Given the description of an element on the screen output the (x, y) to click on. 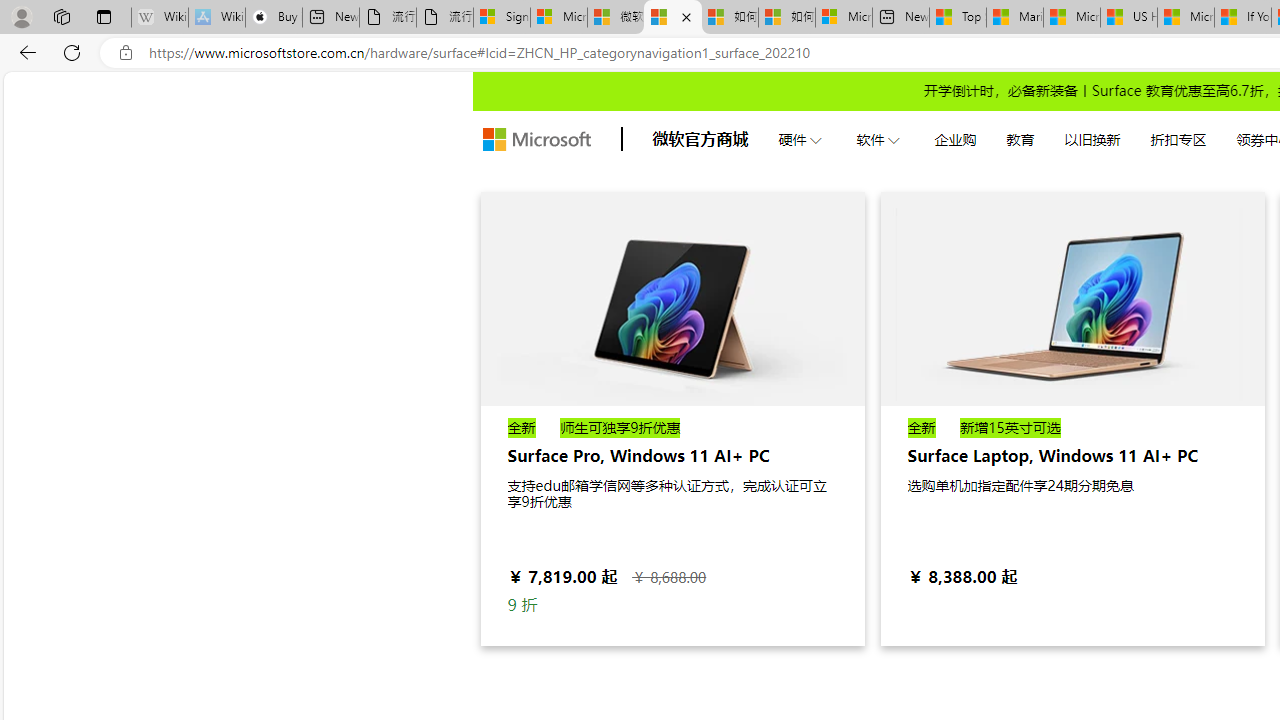
US Heat Deaths Soared To Record High Last Year (1128, 17)
Tab actions menu (104, 16)
Surface Pro, Windows 11 AI+ PC (672, 417)
Sign in to your Microsoft account (501, 17)
